Given the description of an element on the screen output the (x, y) to click on. 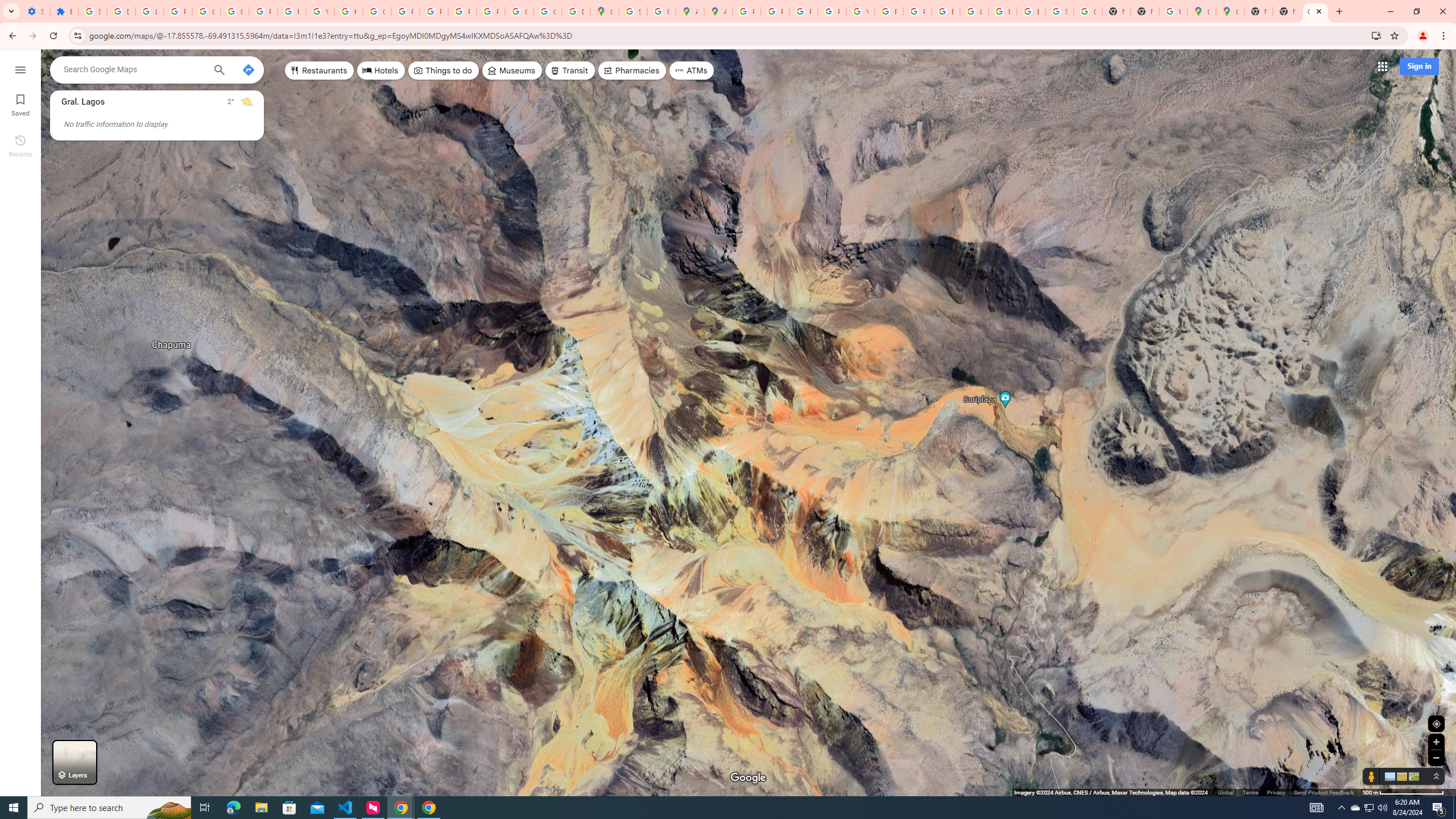
Google Maps (1201, 11)
https://scholar.google.com/ (348, 11)
Use Google Maps in Space - Google Maps Help (1173, 11)
Transit (569, 70)
Browse Chrome as a guest - Computer - Google Chrome Help (945, 11)
Zoom in (1436, 741)
Show imagery (1412, 776)
Show Your Location (1436, 723)
New Tab (1144, 11)
